Given the description of an element on the screen output the (x, y) to click on. 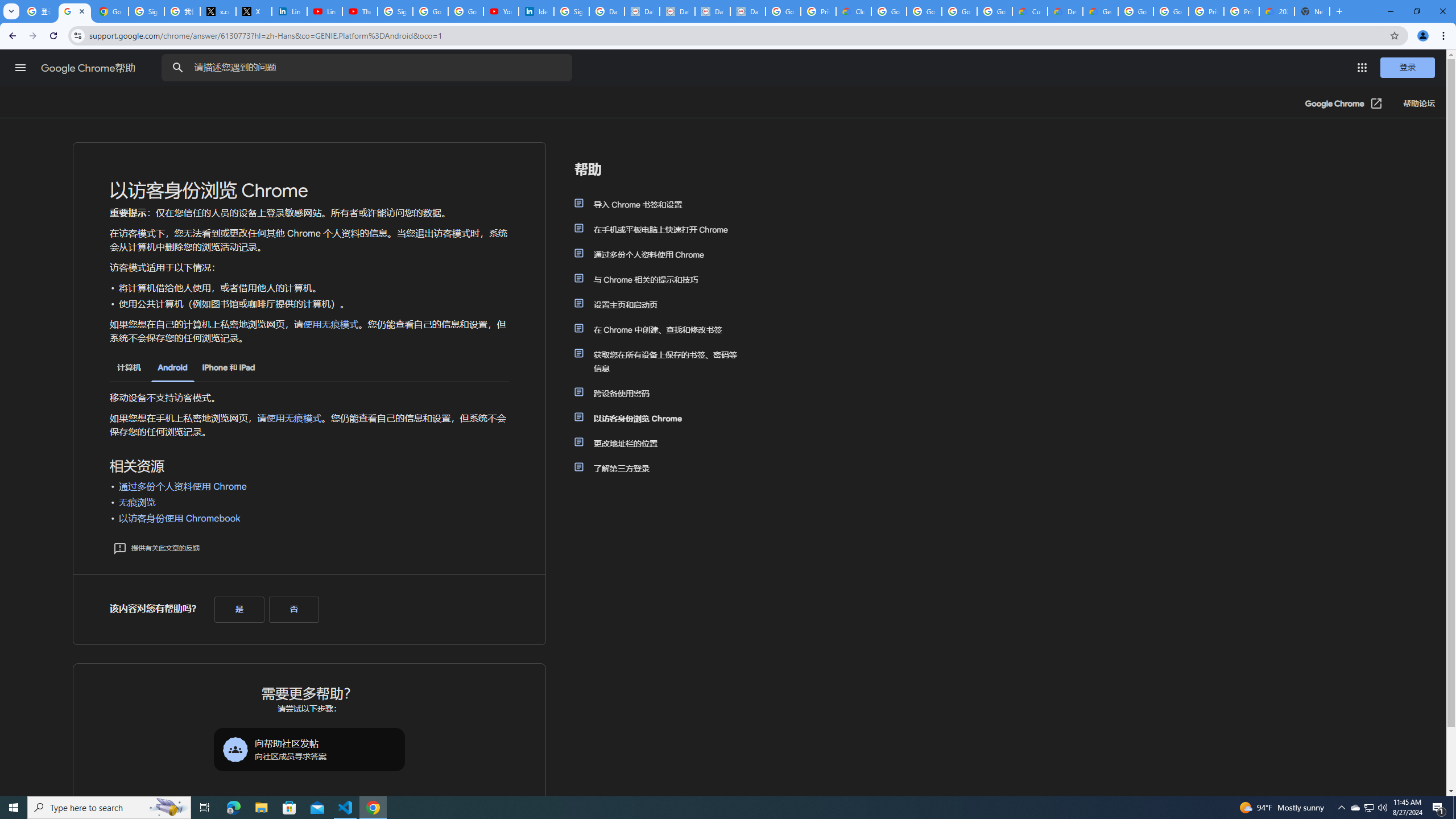
Sign in - Google Accounts (394, 11)
